Given the description of an element on the screen output the (x, y) to click on. 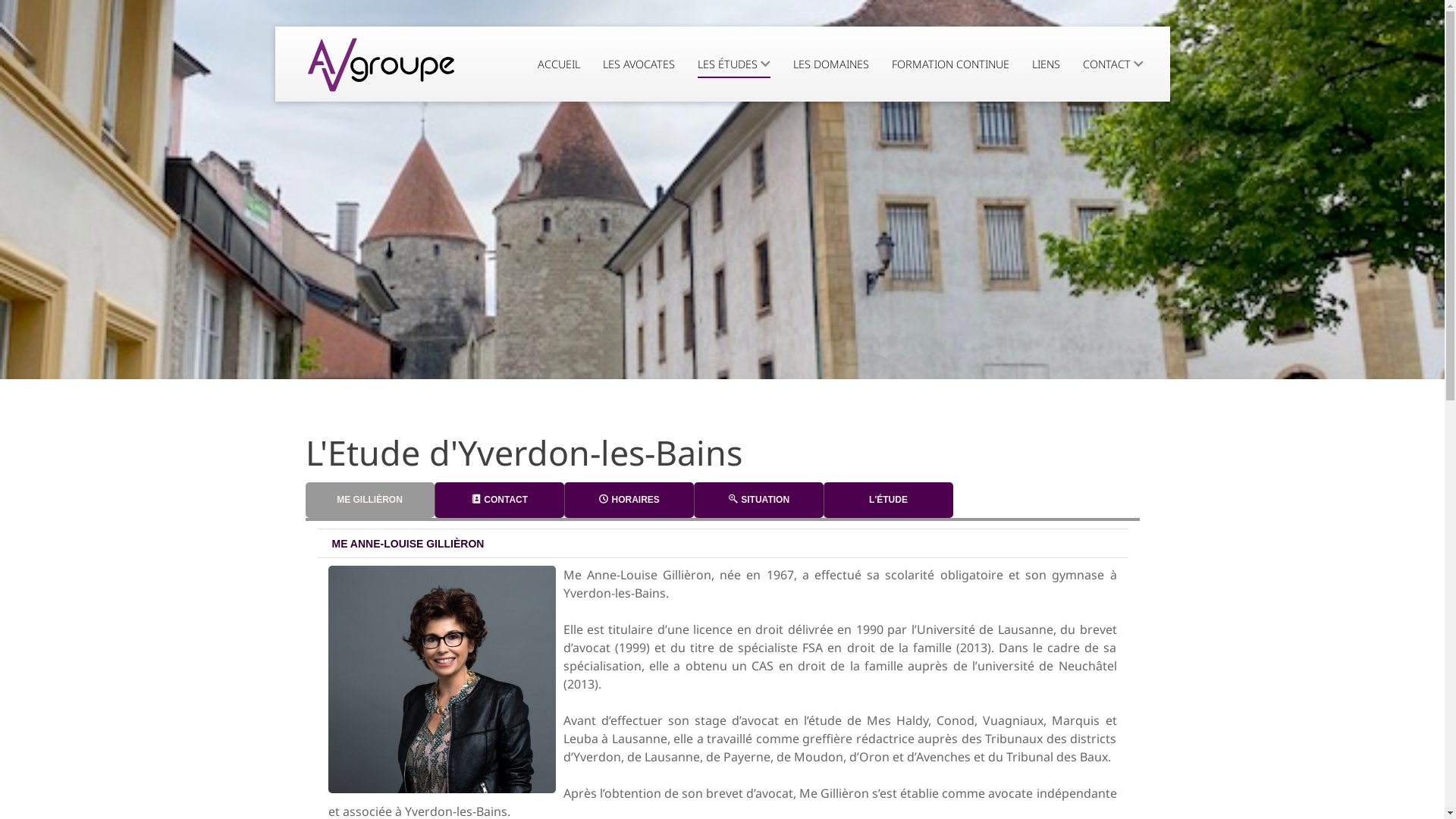
CONTACT Element type: text (1112, 63)
LES AVOCATES Element type: text (638, 63)
ACCUEIL Element type: text (558, 63)
AVGROUPE Element type: hover (380, 63)
LIENS Element type: text (1046, 63)
FORMATION CONTINUE Element type: text (950, 63)
LES DOMAINES Element type: text (831, 63)
